Given the description of an element on the screen output the (x, y) to click on. 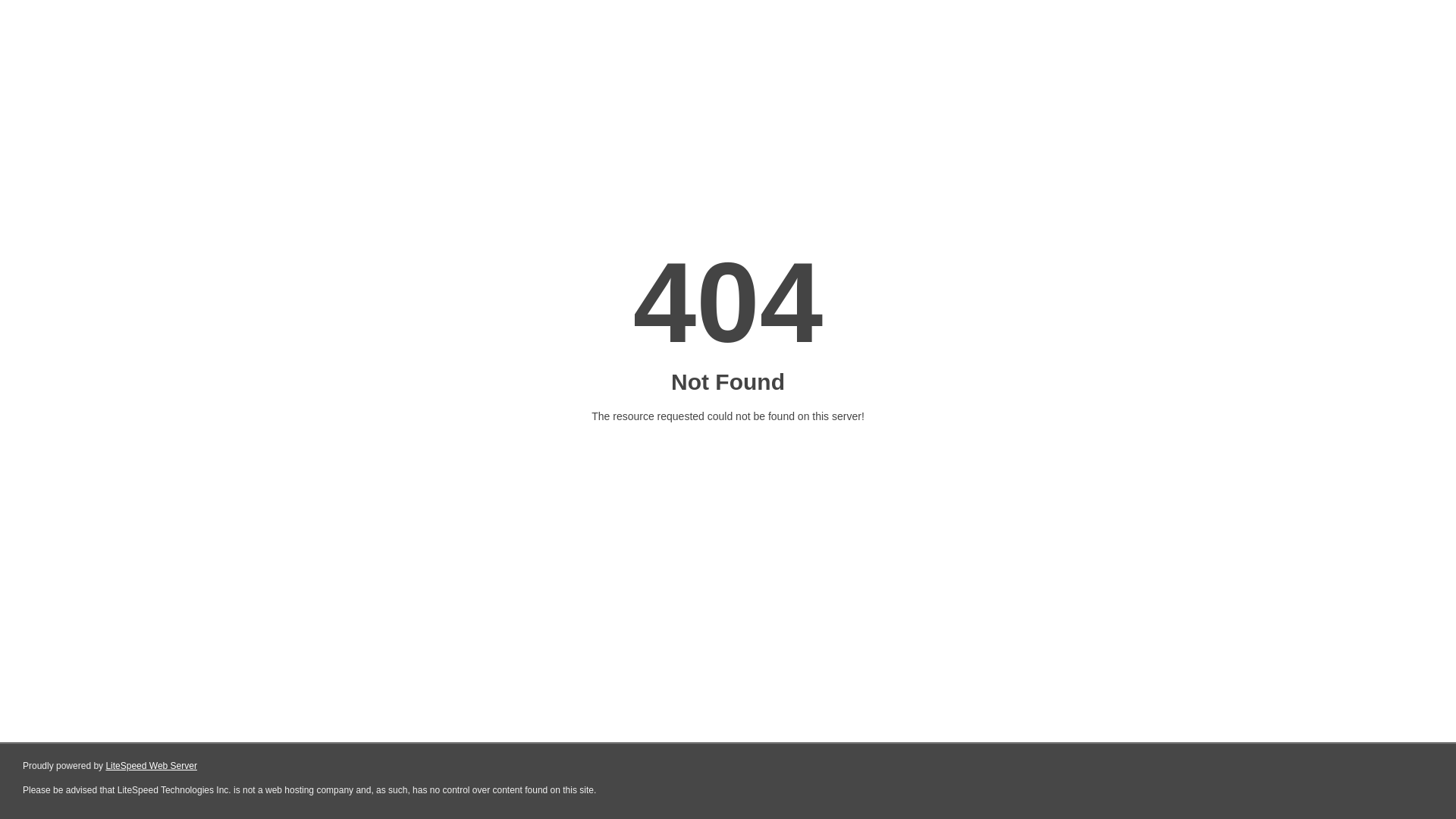
LiteSpeed Web Server Element type: text (151, 765)
